Given the description of an element on the screen output the (x, y) to click on. 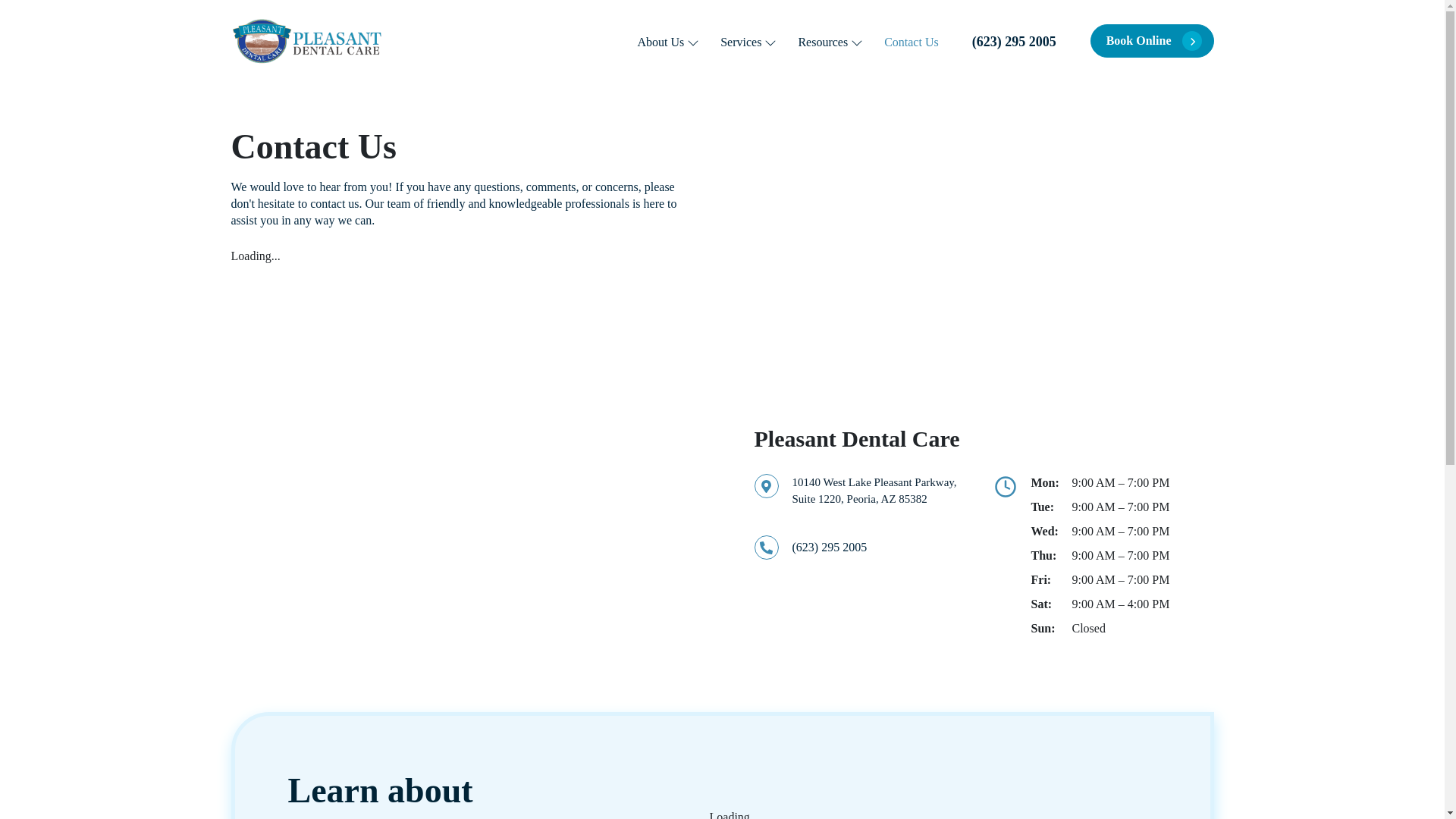
Resources (830, 42)
About Us (667, 42)
Services (748, 42)
